Given the description of an element on the screen output the (x, y) to click on. 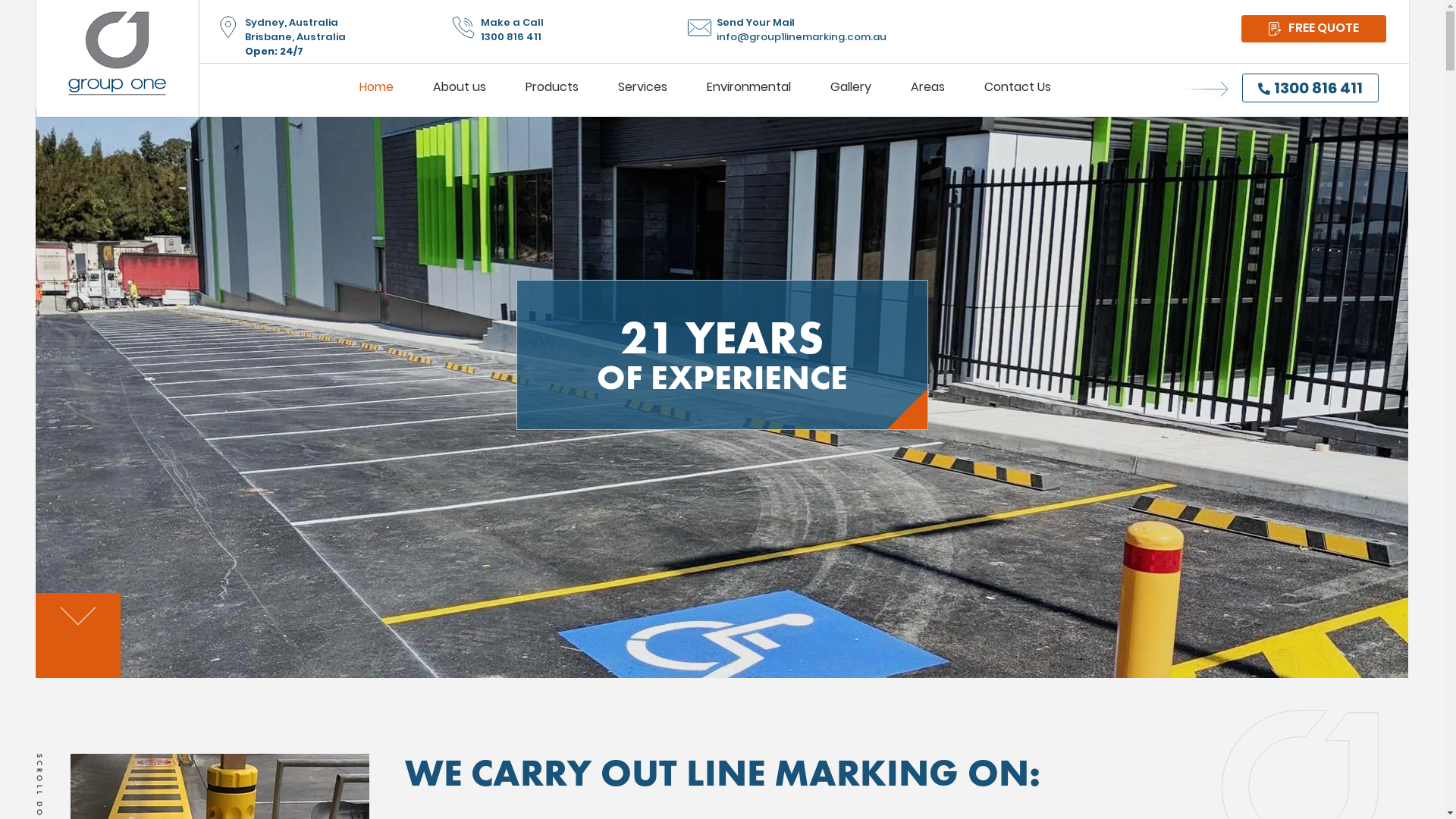
Line Marketing Element type: text (458, 119)
About us Element type: text (458, 86)
1300 816 411 Element type: text (579, 36)
1300 816 411 Element type: text (1309, 87)
Road & Traffic Signs Element type: text (710, 119)
Send Your Mail
info@group1linemarking.com.au Element type: text (932, 29)
Line Marking Element type: text (471, 119)
Services Element type: text (641, 86)
Home Element type: text (376, 86)
Products Element type: text (551, 86)
FREE QUOTE Element type: text (1312, 28)
Gallery Element type: text (849, 86)
Areas Element type: text (926, 86)
Wheel Stops Element type: text (444, 119)
Contact Us Element type: text (1017, 86)
Environmental Element type: text (748, 86)
